Given the description of an element on the screen output the (x, y) to click on. 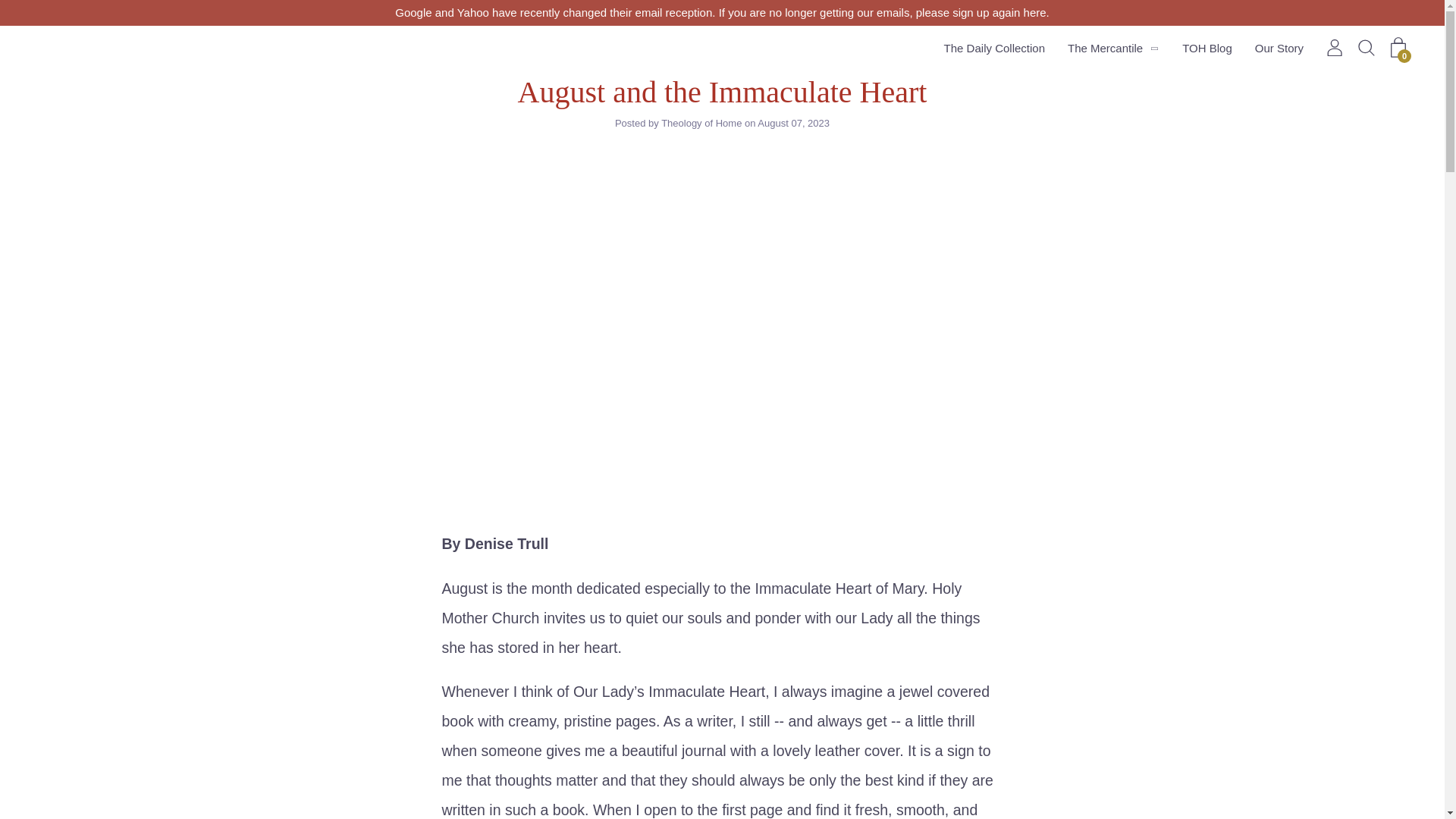
The Daily Collection (994, 48)
Our Story (1279, 48)
TOH Blog (1206, 48)
0 (1398, 47)
The Mercantile (1104, 48)
